Given the description of an element on the screen output the (x, y) to click on. 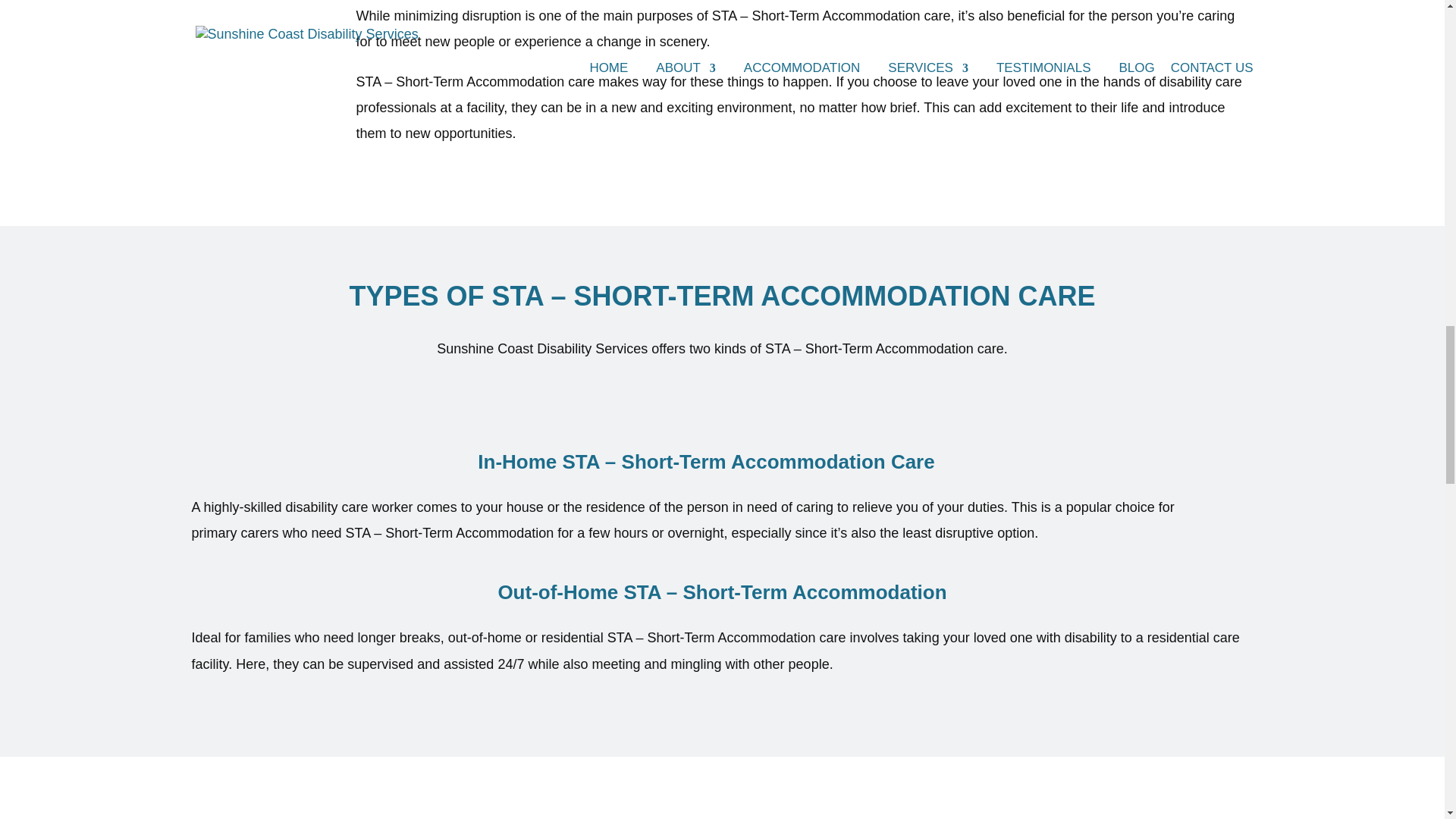
about-us-slider-img-10 (256, 22)
